Given the description of an element on the screen output the (x, y) to click on. 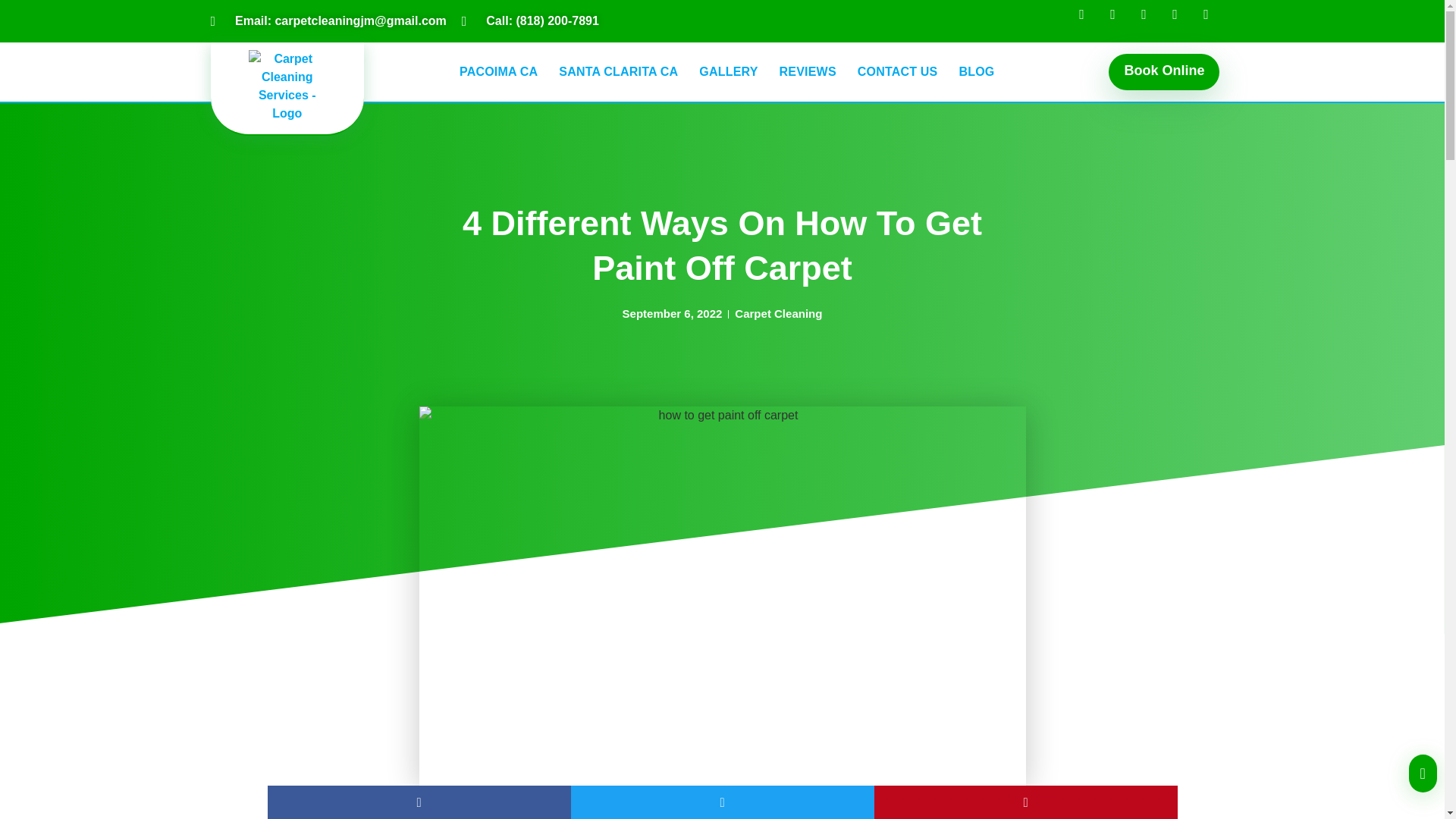
Book Online (1164, 72)
REVIEWS (807, 71)
BLOG (975, 71)
September 6, 2022 (672, 313)
PACOIMA CA (498, 71)
SANTA CLARITA CA (618, 71)
GALLERY (728, 71)
CONTACT US (898, 71)
Carpet Cleaning (778, 313)
